Given the description of an element on the screen output the (x, y) to click on. 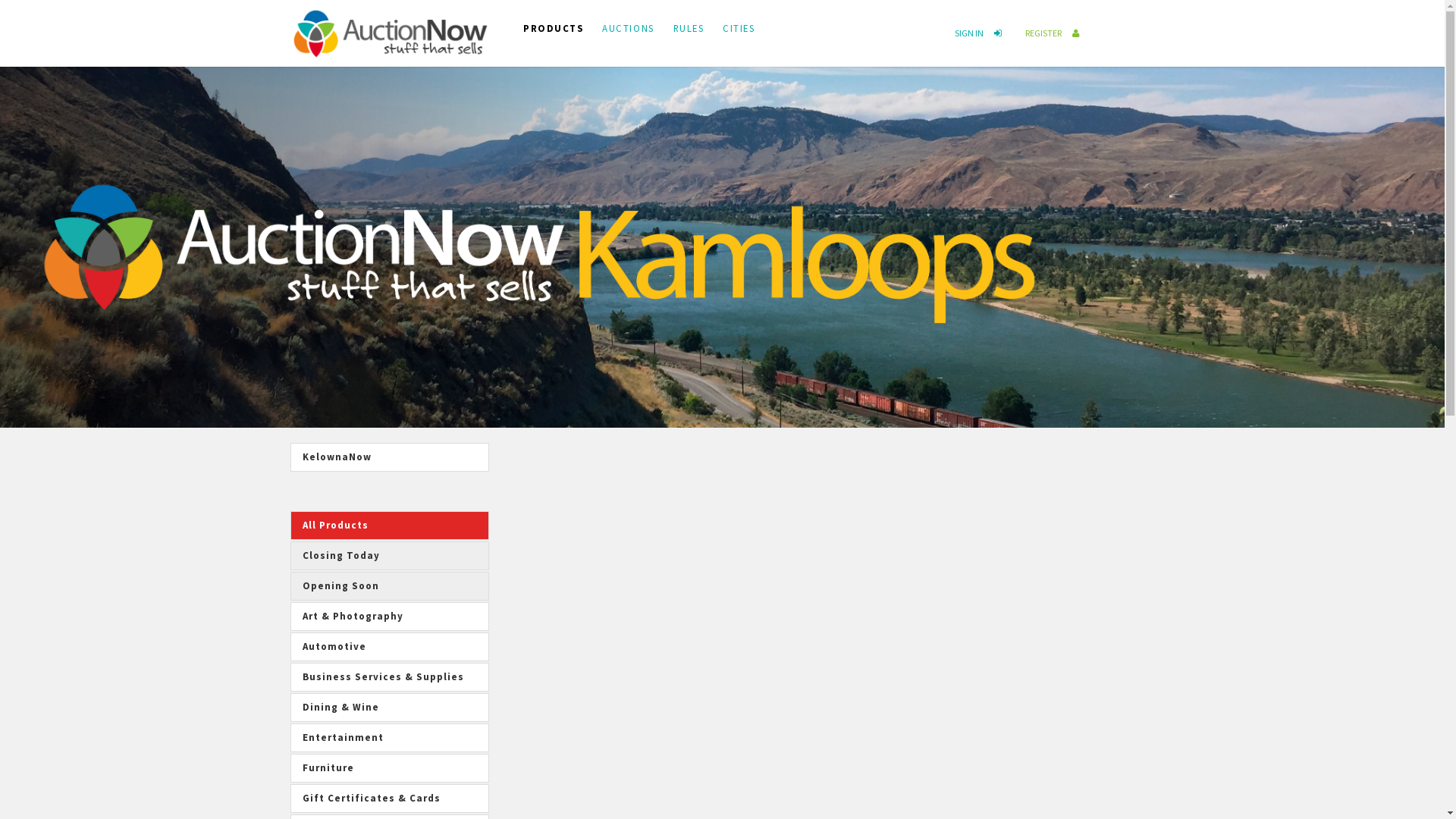
RULES Element type: text (698, 23)
All Products Element type: text (389, 525)
Entertainment Element type: text (389, 737)
KelownaNow Element type: text (389, 456)
Business Services & Supplies Element type: text (389, 676)
CITIES Element type: text (747, 23)
PRODUCTS Element type: text (562, 23)
Gift Certificates & Cards Element type: text (389, 798)
AUCTIONS Element type: text (637, 23)
REGISTER   Element type: text (1054, 33)
Kamloops AuctionNow Element type: hover (389, 30)
SIGN IN   Element type: text (981, 33)
Furniture Element type: text (389, 767)
Closing Today Element type: text (389, 555)
Opening Soon Element type: text (389, 585)
Automotive Element type: text (389, 646)
Art & Photography Element type: text (389, 616)
Dining & Wine Element type: text (389, 707)
